Given the description of an element on the screen output the (x, y) to click on. 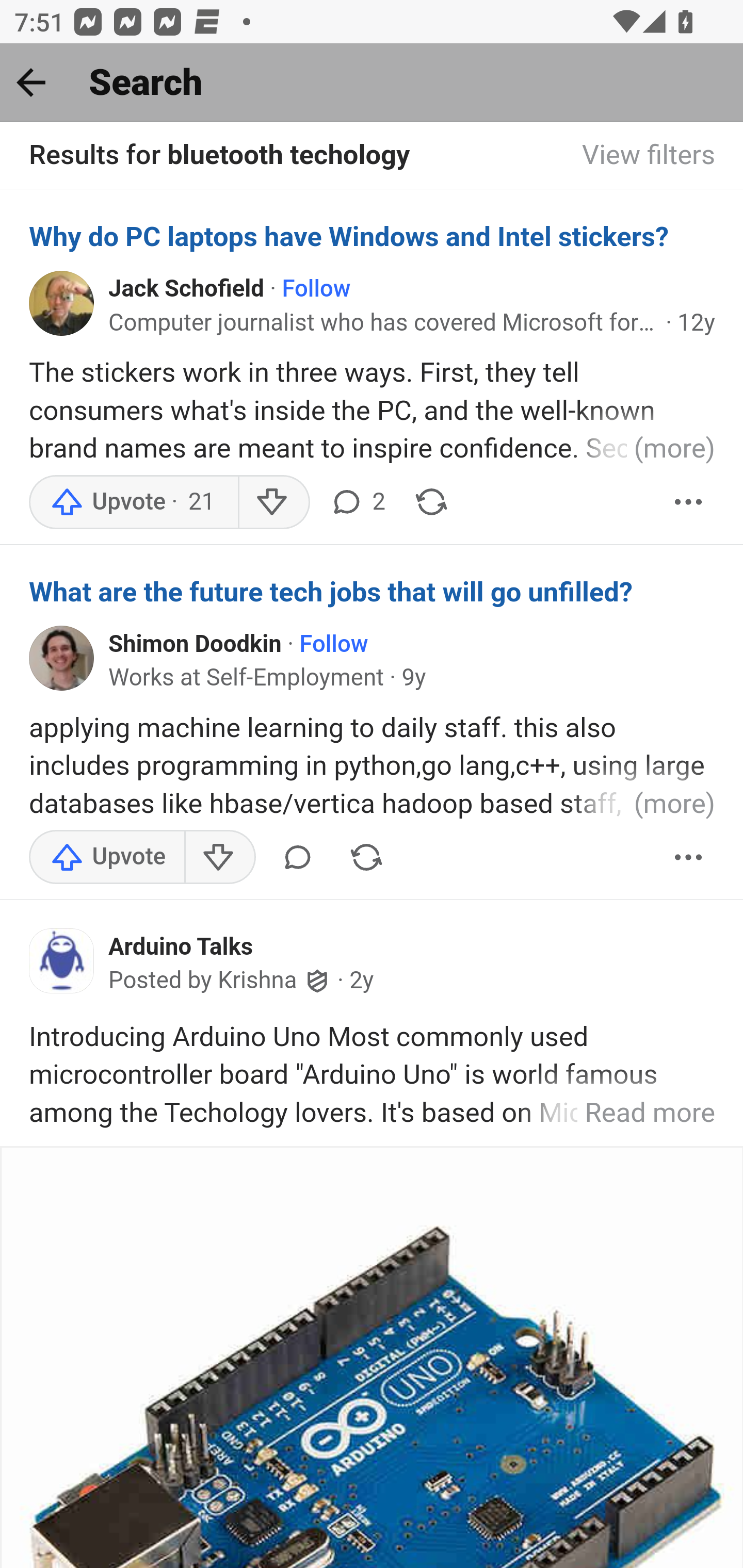
Back Search (371, 82)
Back (30, 82)
View filters (648, 155)
Why do PC laptops have Windows and Intel stickers? (372, 236)
Profile photo for Jack Schofield (61, 302)
Jack Schofield (186, 289)
Follow (316, 289)
12y 12 y (696, 322)
Upvote (133, 501)
Downvote (273, 501)
2 comments (357, 501)
Share (430, 501)
More (688, 501)
Profile photo for Shimon Doodkin (61, 658)
Shimon Doodkin (194, 644)
Follow (333, 644)
9y 9 y (414, 677)
Upvote (106, 856)
Downvote (219, 856)
Comment (297, 856)
Share (366, 856)
More (688, 856)
Icon for Arduino Talks (61, 960)
Arduino Talks (181, 946)
Krishna (256, 980)
2y 2 y (361, 980)
